Given the description of an element on the screen output the (x, y) to click on. 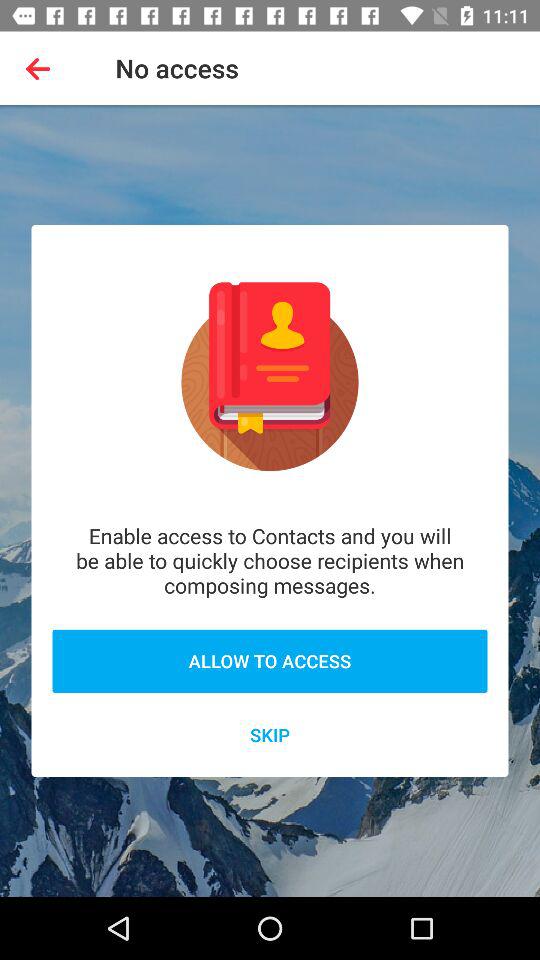
press app next to the no access item (41, 68)
